Given the description of an element on the screen output the (x, y) to click on. 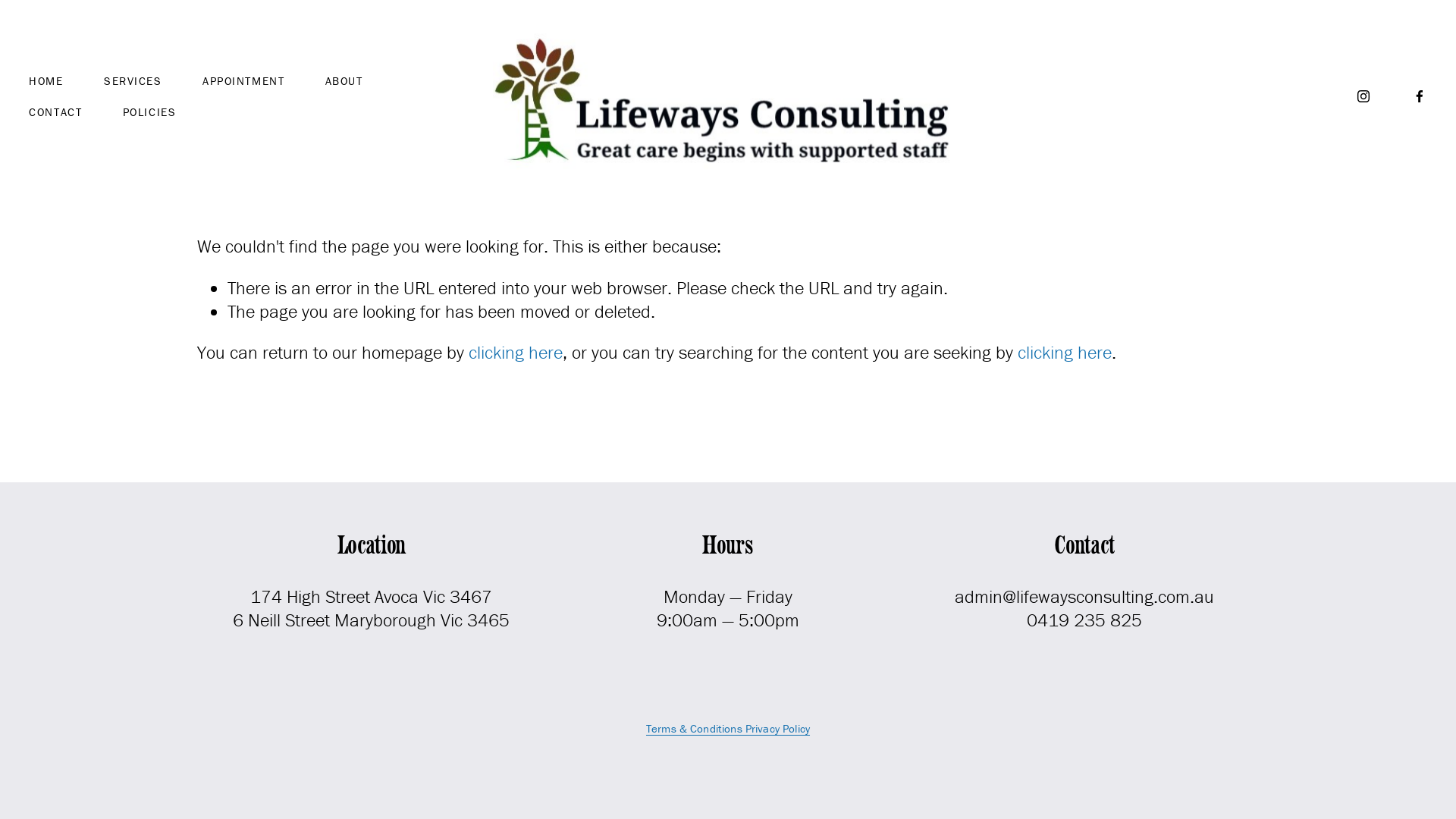
POLICIES Element type: text (148, 111)
APPOINTMENT Element type: text (243, 80)
HOME Element type: text (45, 80)
clicking here Element type: text (515, 352)
clicking here Element type: text (1064, 352)
SERVICES Element type: text (132, 80)
Terms & Conditions Privacy Policy Element type: text (727, 728)
ABOUT Element type: text (344, 80)
CONTACT Element type: text (54, 111)
